Given the description of an element on the screen output the (x, y) to click on. 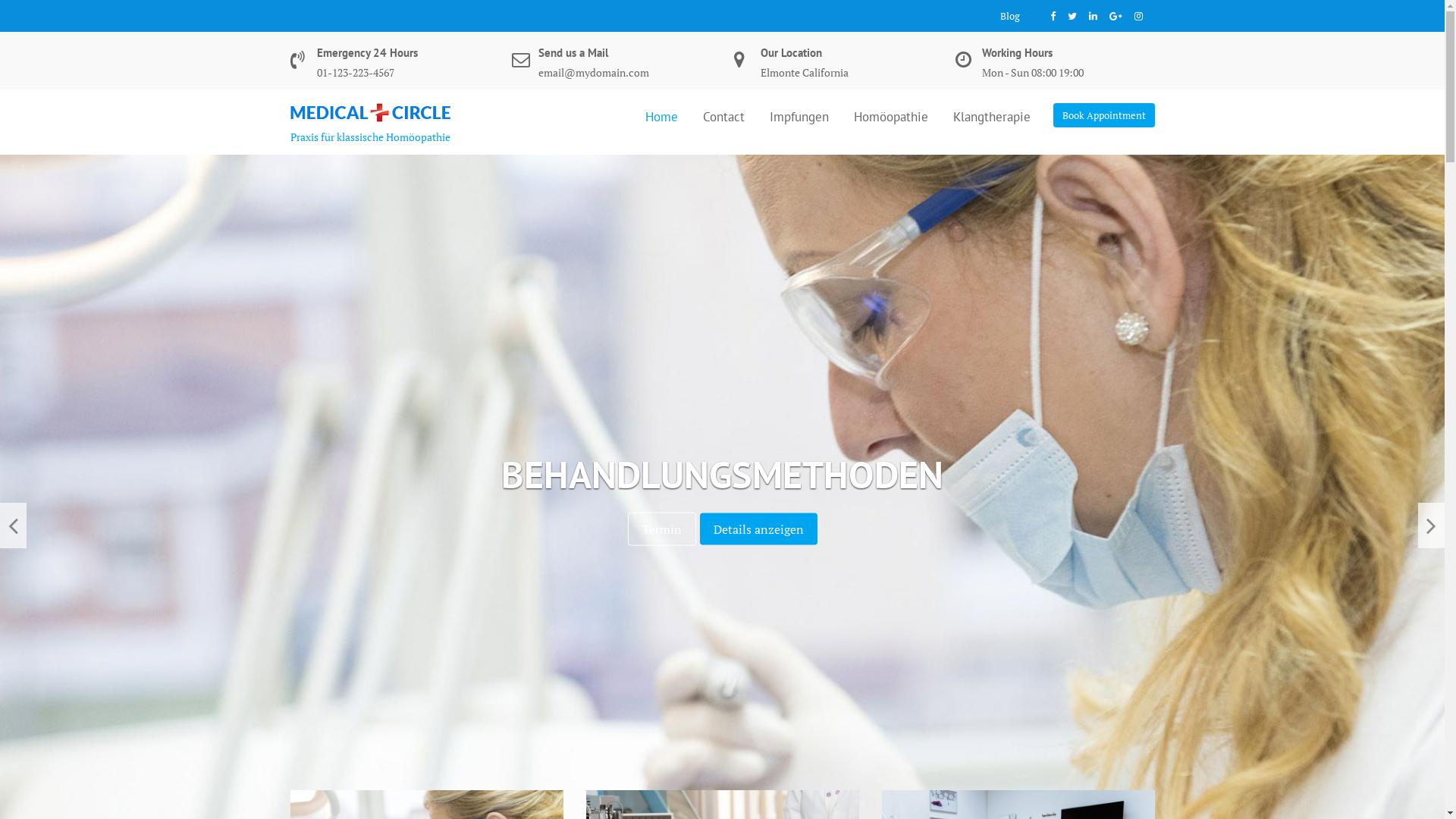
Klangtherapie Element type: text (991, 115)
Home Element type: text (661, 115)
Book Appointment Element type: text (1103, 115)
Blog Element type: text (1009, 15)
Termin Element type: text (653, 528)
Details anzeigen Element type: text (770, 528)
Contact Element type: text (723, 115)
Impfungen Element type: text (799, 115)
